Given the description of an element on the screen output the (x, y) to click on. 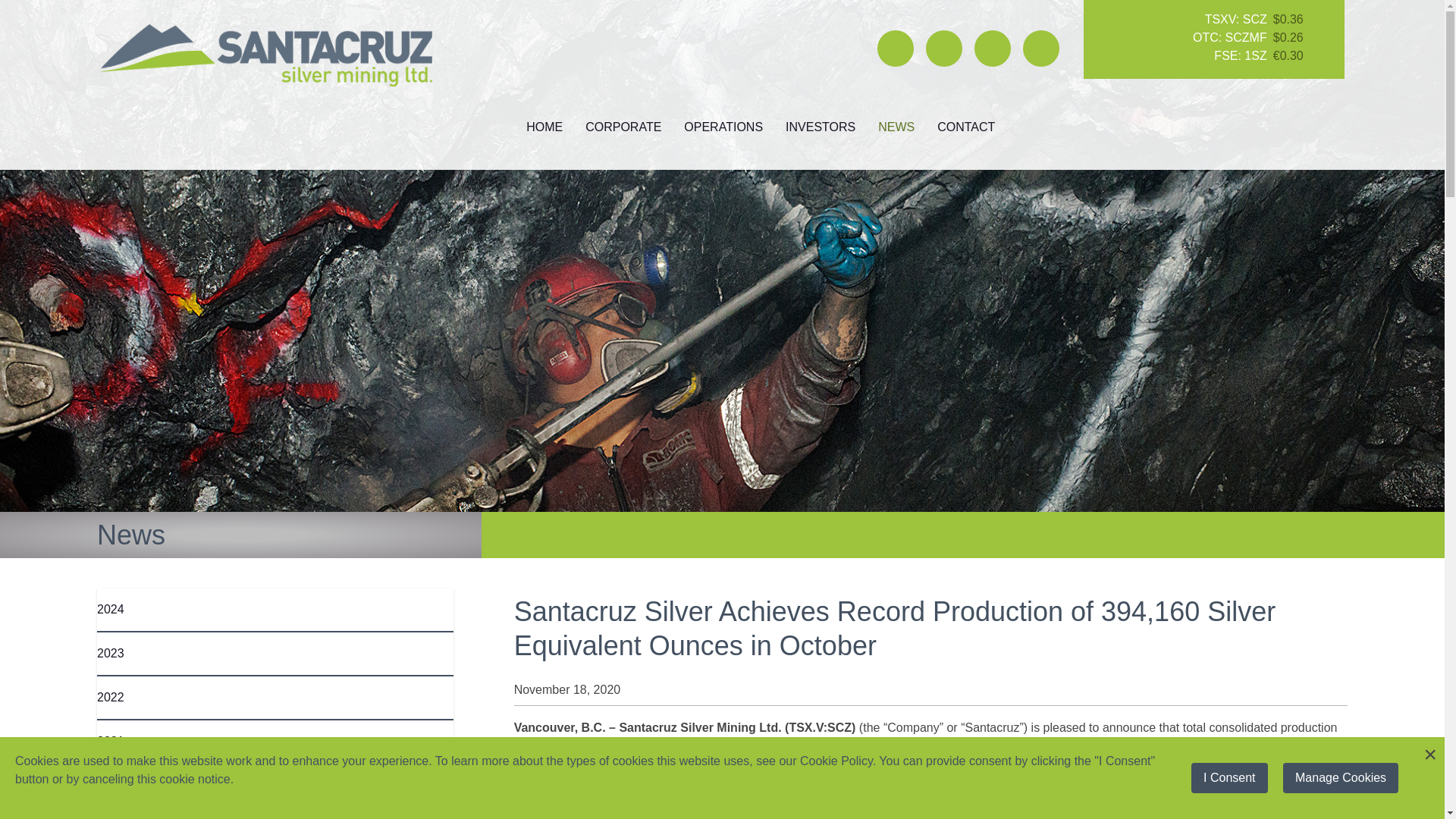
CONTACT (966, 127)
OPERATIONS (723, 127)
2022 (110, 697)
INVESTORS (820, 127)
2024 (110, 608)
CORPORATE (622, 127)
2023 (110, 653)
NEWS (896, 127)
HOME (544, 127)
